Given the description of an element on the screen output the (x, y) to click on. 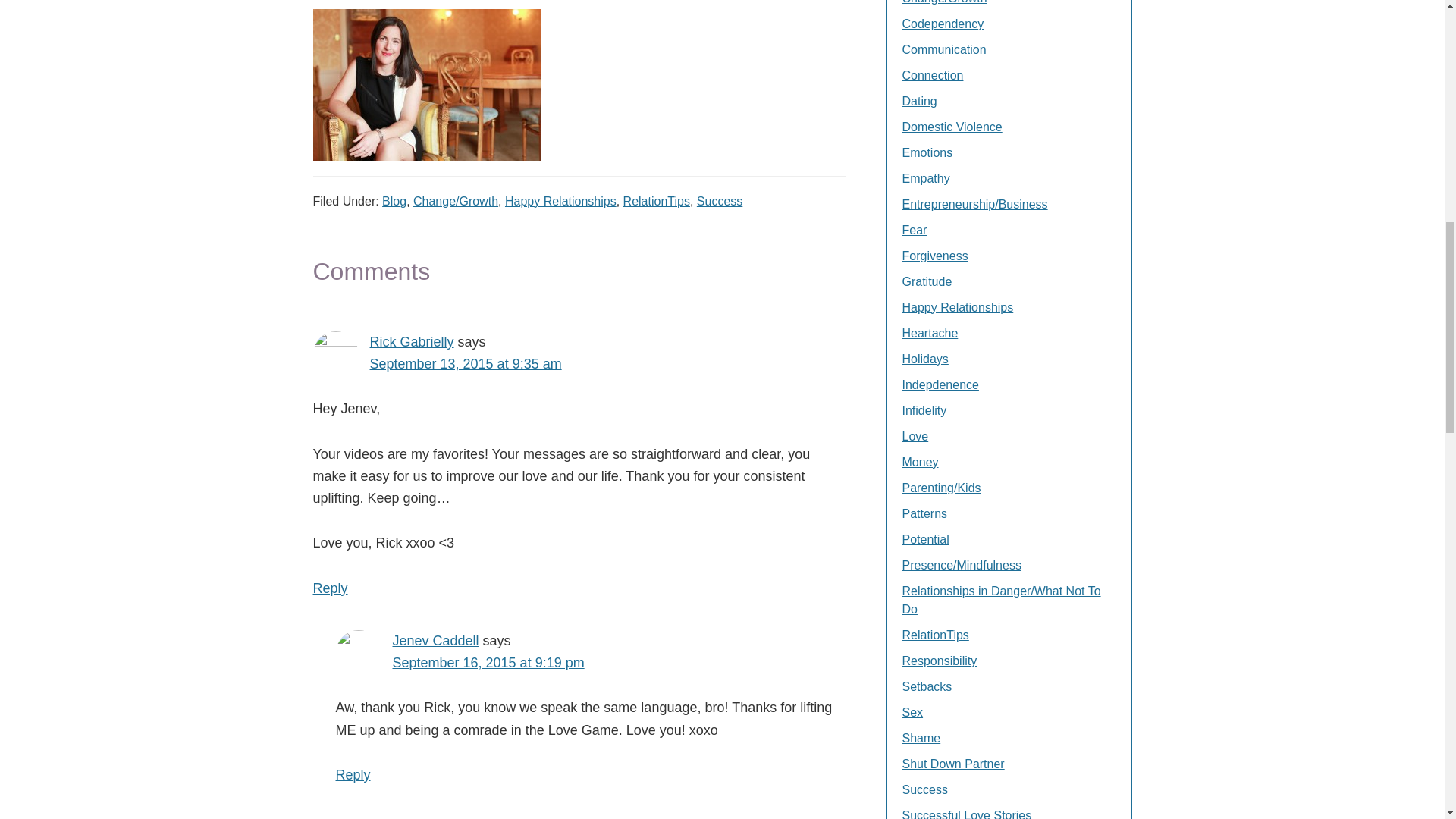
RelationTips (656, 201)
Rick Gabrielly (411, 341)
September 13, 2015 at 9:35 am (465, 363)
Codependency (943, 23)
Reply (330, 588)
Reply (351, 774)
Blog (393, 201)
Happy Relationships (560, 201)
Jenev Caddell (436, 640)
Success (719, 201)
September 16, 2015 at 9:19 pm (489, 662)
